Given the description of an element on the screen output the (x, y) to click on. 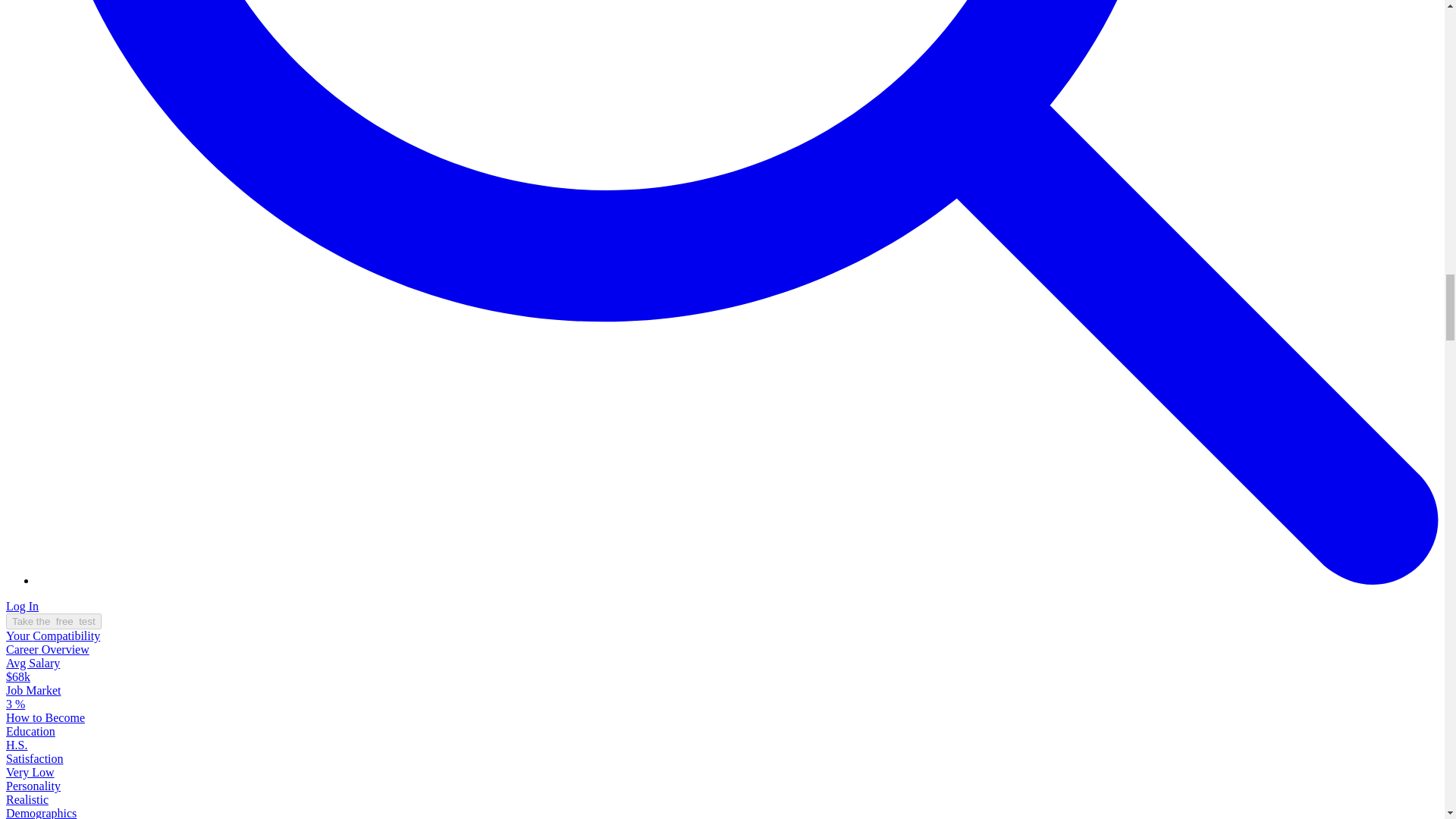
Log In (22, 605)
Take the  free  test (53, 621)
